Given the description of an element on the screen output the (x, y) to click on. 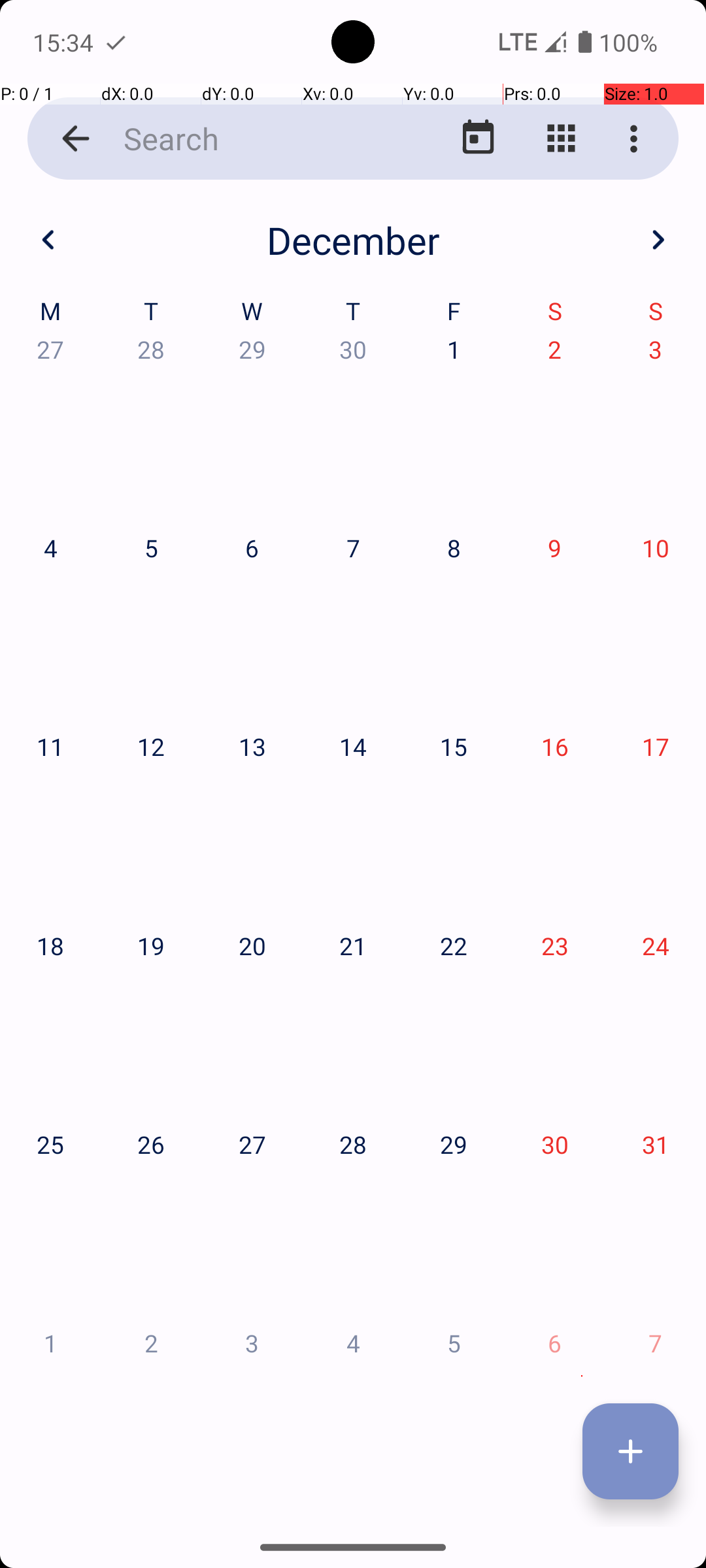
JANUARY Element type: android.widget.TextView (123, 319)
FEBRUARY Element type: android.widget.TextView (352, 319)
MARCH Element type: android.widget.TextView (582, 319)
APRIL Element type: android.widget.TextView (123, 621)
MAY Element type: android.widget.TextView (352, 621)
JUNE Element type: android.widget.TextView (582, 621)
JULY Element type: android.widget.TextView (123, 923)
AUGUST Element type: android.widget.TextView (352, 923)
SEPTEMBER Element type: android.widget.TextView (582, 923)
NOVEMBER Element type: android.widget.TextView (352, 1224)
DECEMBER Element type: android.widget.TextView (582, 1224)
December Element type: android.widget.TextView (352, 239)
